Given the description of an element on the screen output the (x, y) to click on. 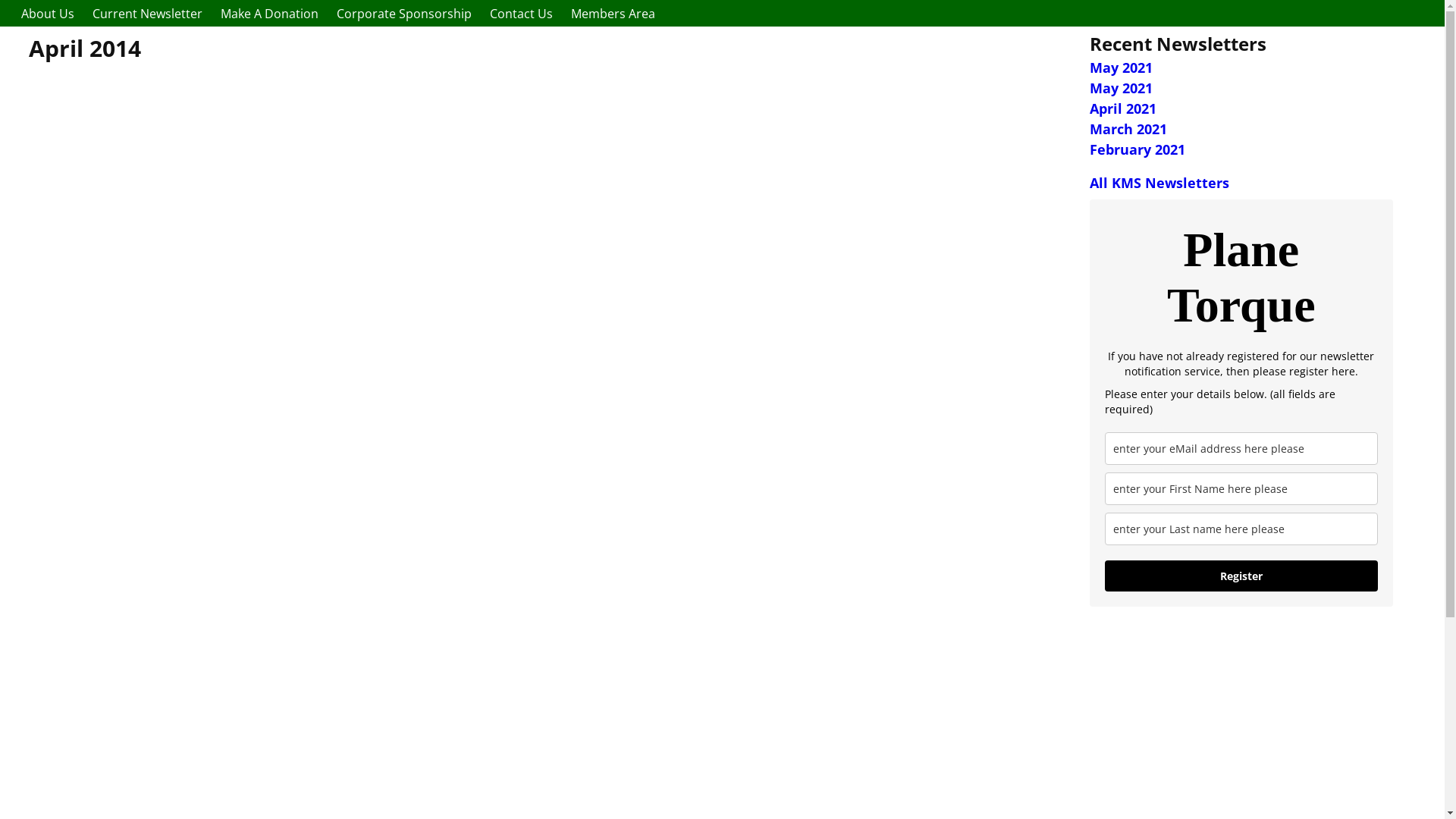
February 2021 Element type: text (1137, 149)
May 2021 Element type: text (1120, 87)
May 2021 Element type: text (1120, 67)
Current Newsletter Element type: text (147, 13)
Members Area Element type: text (612, 13)
Make A Donation Element type: text (269, 13)
All KMS Newsletters Element type: text (1159, 182)
Corporate Sponsorship Element type: text (403, 13)
About Us Element type: text (47, 13)
Register Element type: text (1240, 575)
March 2021 Element type: text (1128, 128)
Contact Us Element type: text (520, 13)
April 2021 Element type: text (1122, 108)
